Given the description of an element on the screen output the (x, y) to click on. 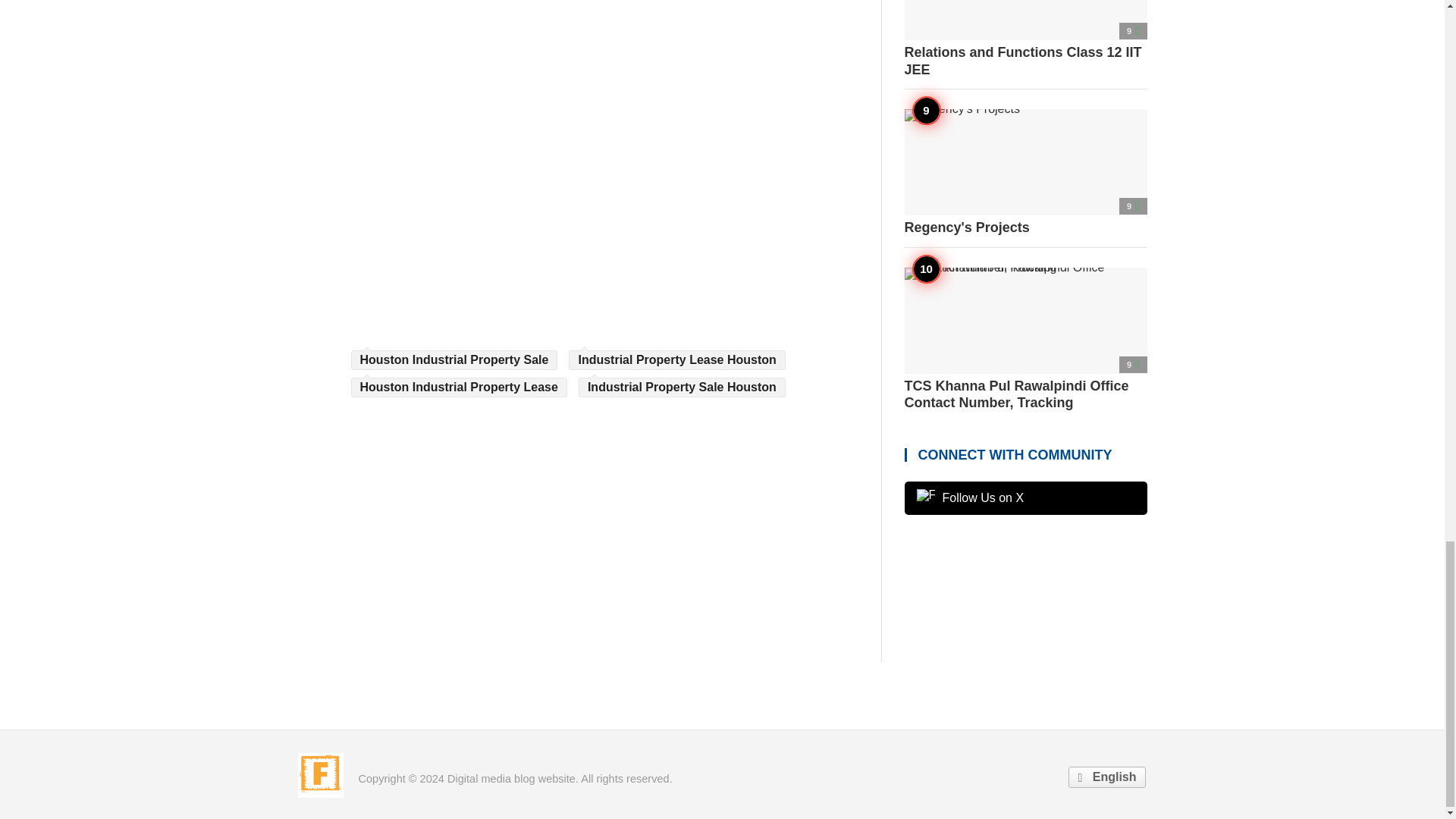
Relations and Functions Class 12 IIT JEE (1025, 38)
TCS Khanna Pul Rawalpindi Office Contact Number, Tracking (1025, 338)
Regency's Projects (1025, 172)
